Given the description of an element on the screen output the (x, y) to click on. 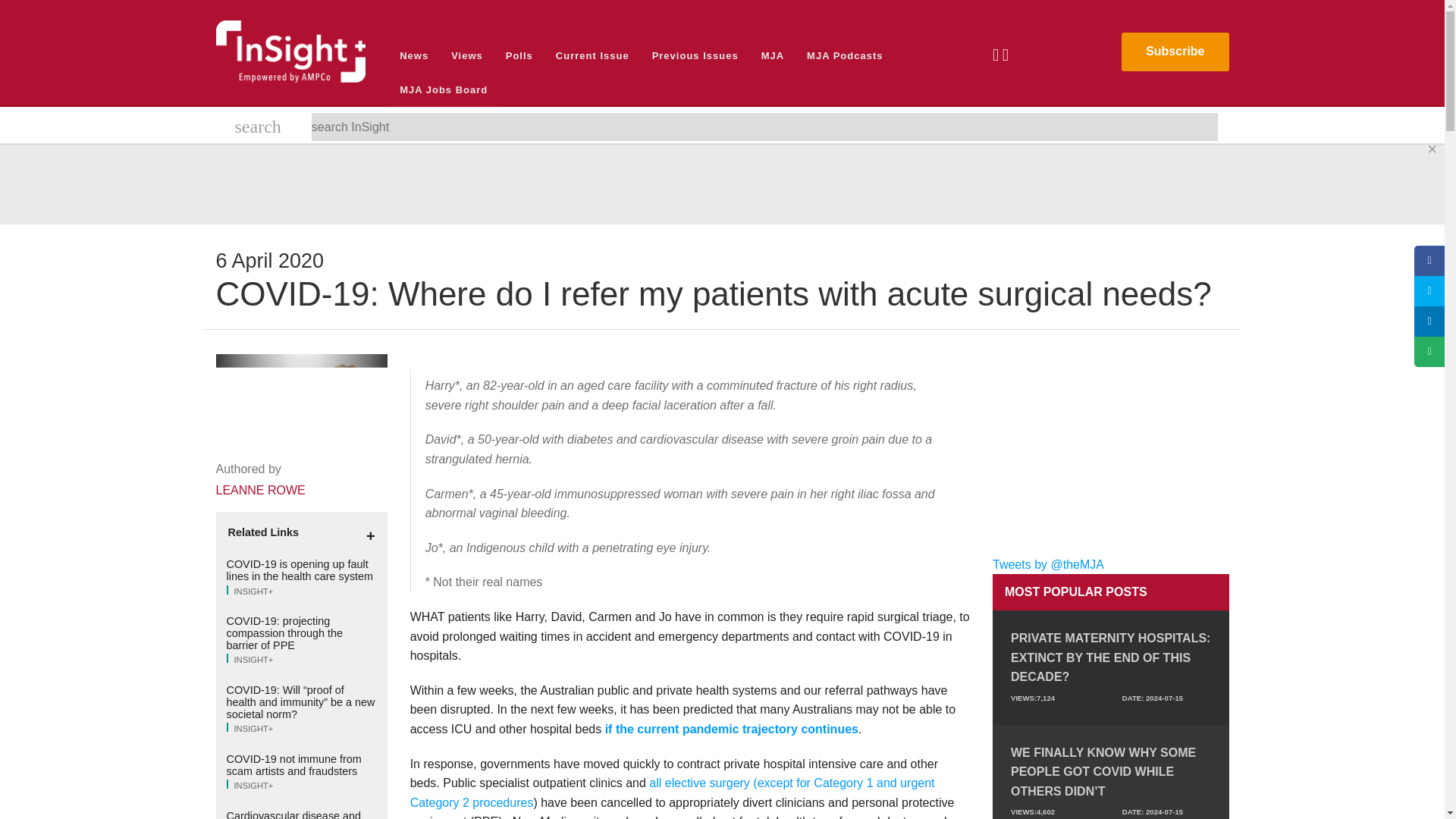
Current Issue (592, 55)
Subscribe (1174, 51)
MJA Jobs Board (443, 89)
MJA Podcasts (843, 55)
if the current pandemic trajectory continues (732, 728)
Views (467, 55)
search (257, 129)
MJA (771, 55)
Related Links (301, 532)
News (413, 55)
